Given the description of an element on the screen output the (x, y) to click on. 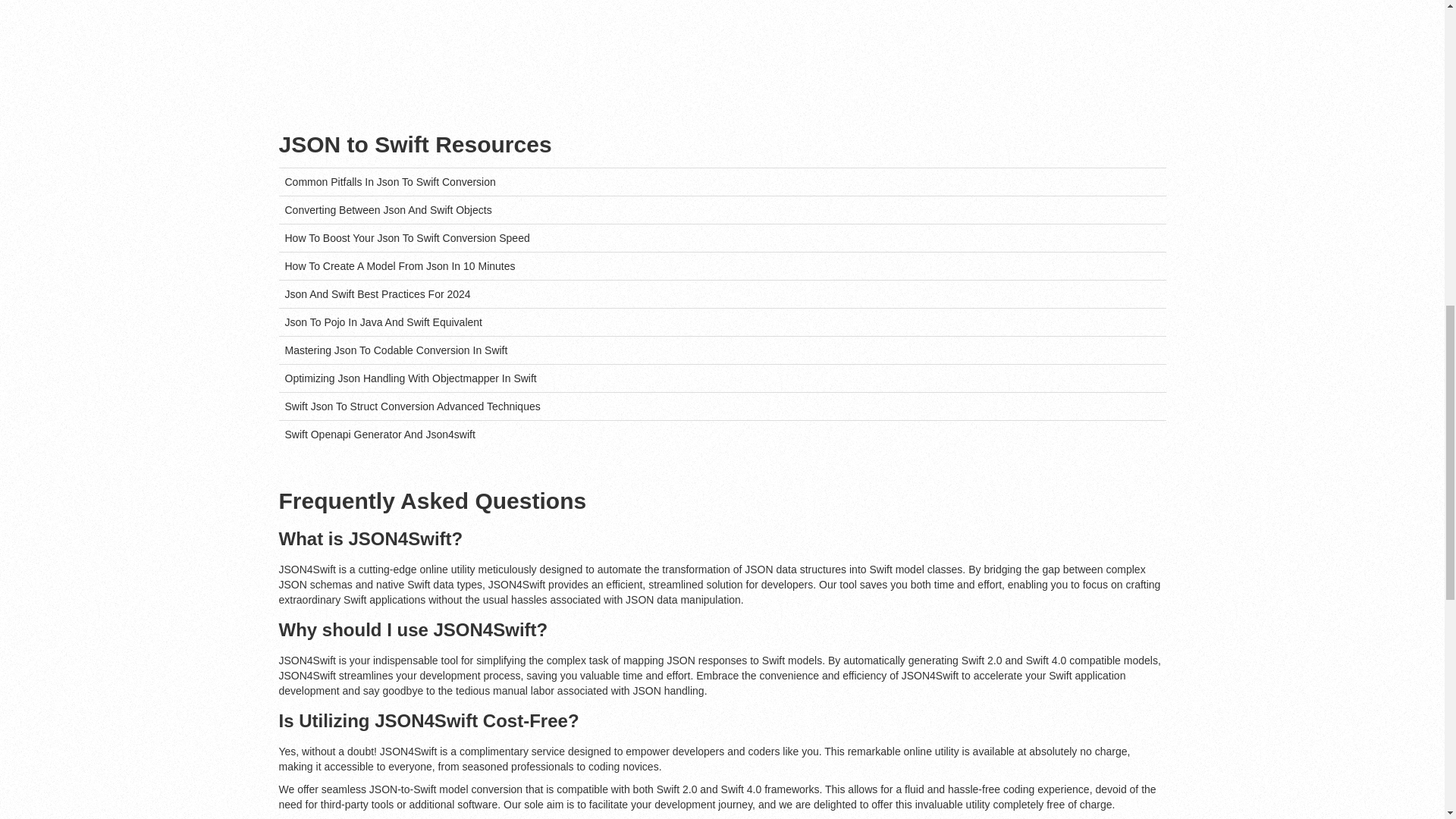
Optimizing Json Handling With Objectmapper In Swift (411, 378)
Swift Openapi Generator And Json4swift (380, 434)
Json And Swift Best Practices For 2024 (377, 294)
How To Create A Model From Json In 10 Minutes (400, 265)
Converting Between Json And Swift Objects (388, 209)
Swift Json To Struct Conversion Advanced Techniques (412, 406)
How To Boost Your Json To Swift Conversion Speed (407, 237)
Advertisement (873, 40)
Mastering Json To Codable Conversion In Swift (396, 349)
Common Pitfalls In Json To Swift Conversion (390, 182)
Json To Pojo In Java And Swift Equivalent (383, 322)
